Given the description of an element on the screen output the (x, y) to click on. 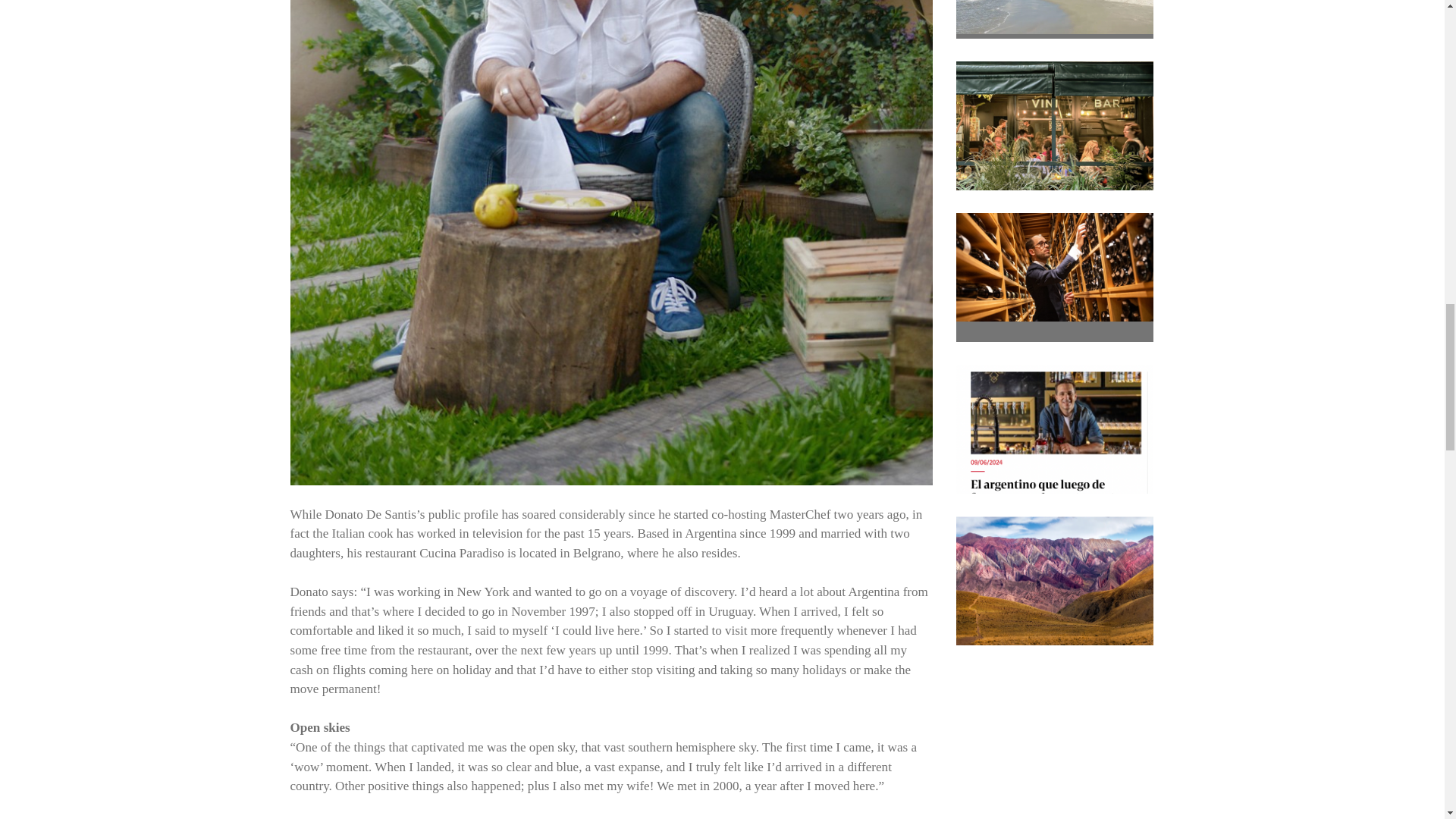
The 24 most underrated travel destinations in the world 2024 (1054, 17)
Buenos Aires wine shops: 10 to visit (1054, 125)
